Given the description of an element on the screen output the (x, y) to click on. 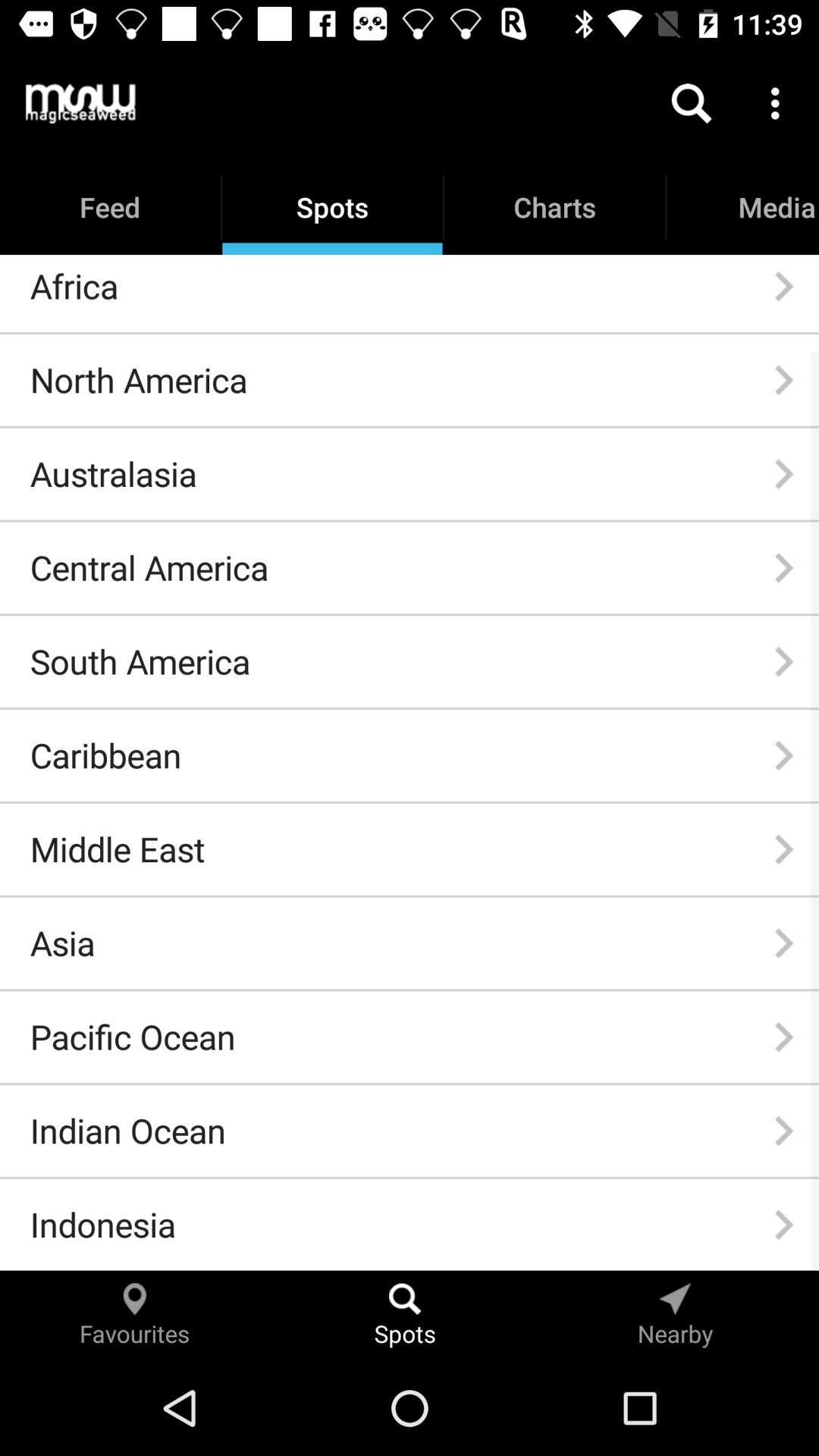
launch indonesia icon (102, 1224)
